Given the description of an element on the screen output the (x, y) to click on. 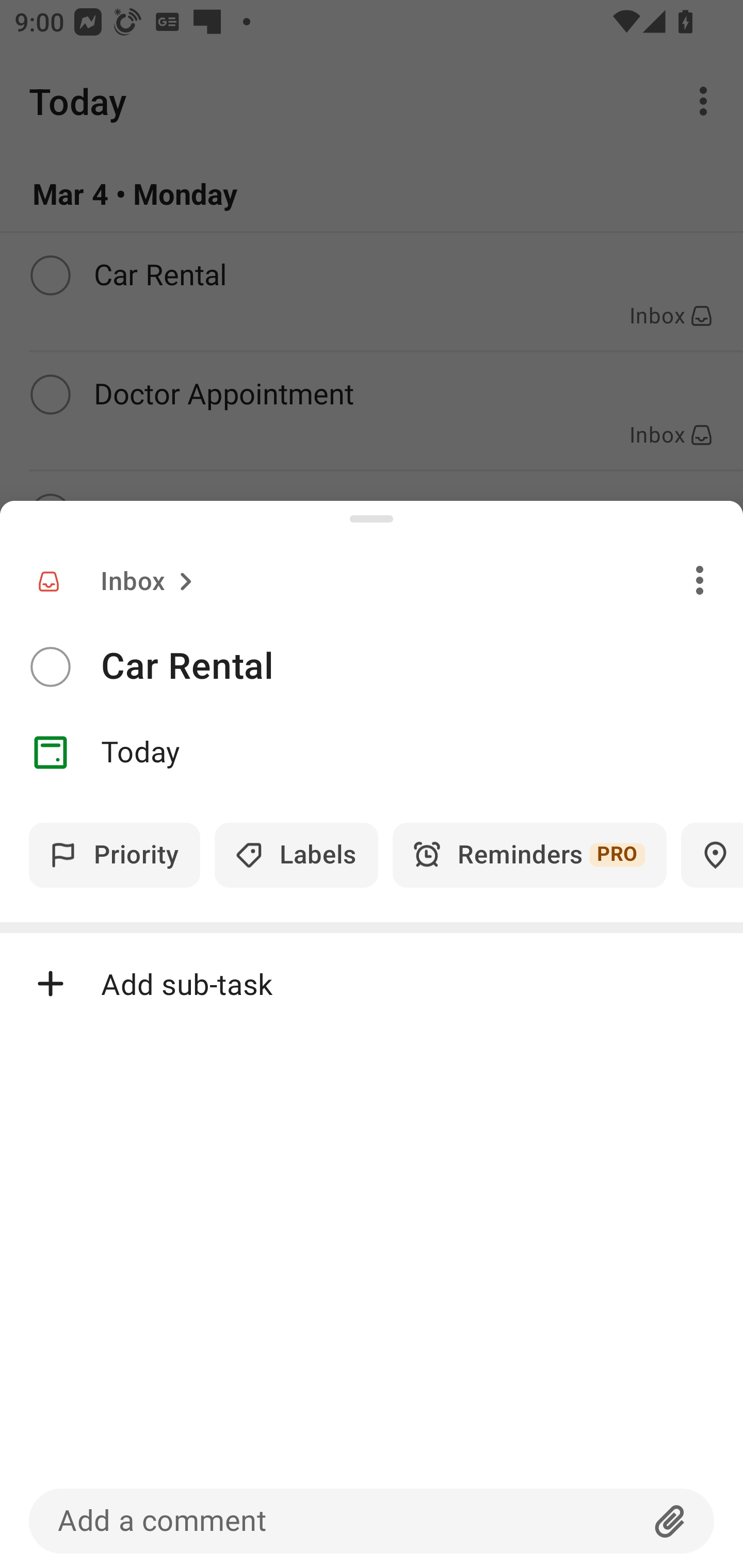
Overflow menu (699, 580)
Complete (50, 667)
Car Rental​ (422, 666)
Date Today (371, 752)
Priority (113, 855)
Labels (296, 855)
Reminders PRO (529, 855)
Locations PRO (712, 855)
Add sub-task (371, 983)
Add a comment Attachment (371, 1520)
Attachment (670, 1520)
